Given the description of an element on the screen output the (x, y) to click on. 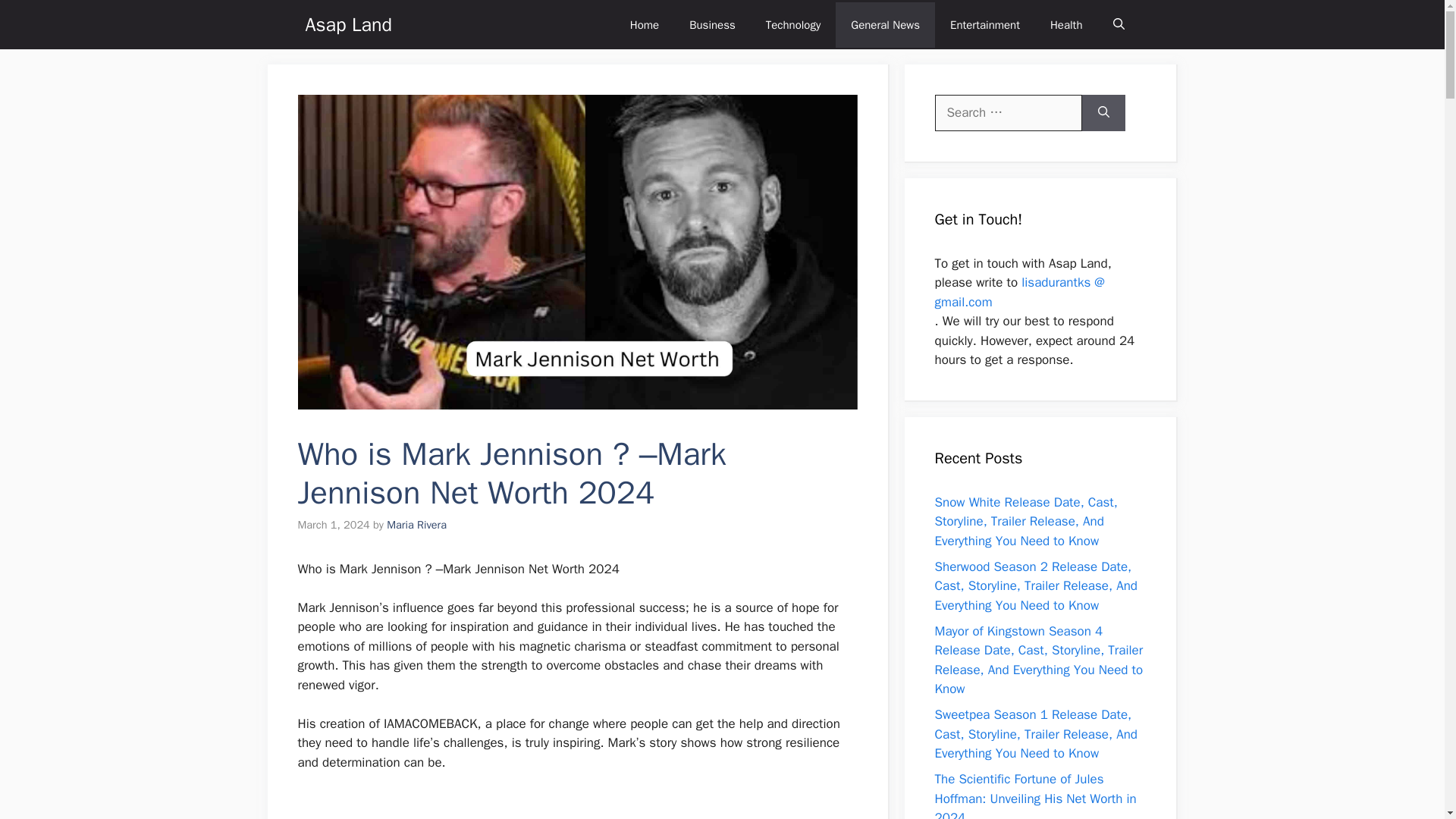
Asap Land (347, 24)
Entertainment (984, 23)
Business (712, 23)
General News (884, 23)
Home (644, 23)
Search for: (1007, 113)
Maria Rivera (416, 524)
